Given the description of an element on the screen output the (x, y) to click on. 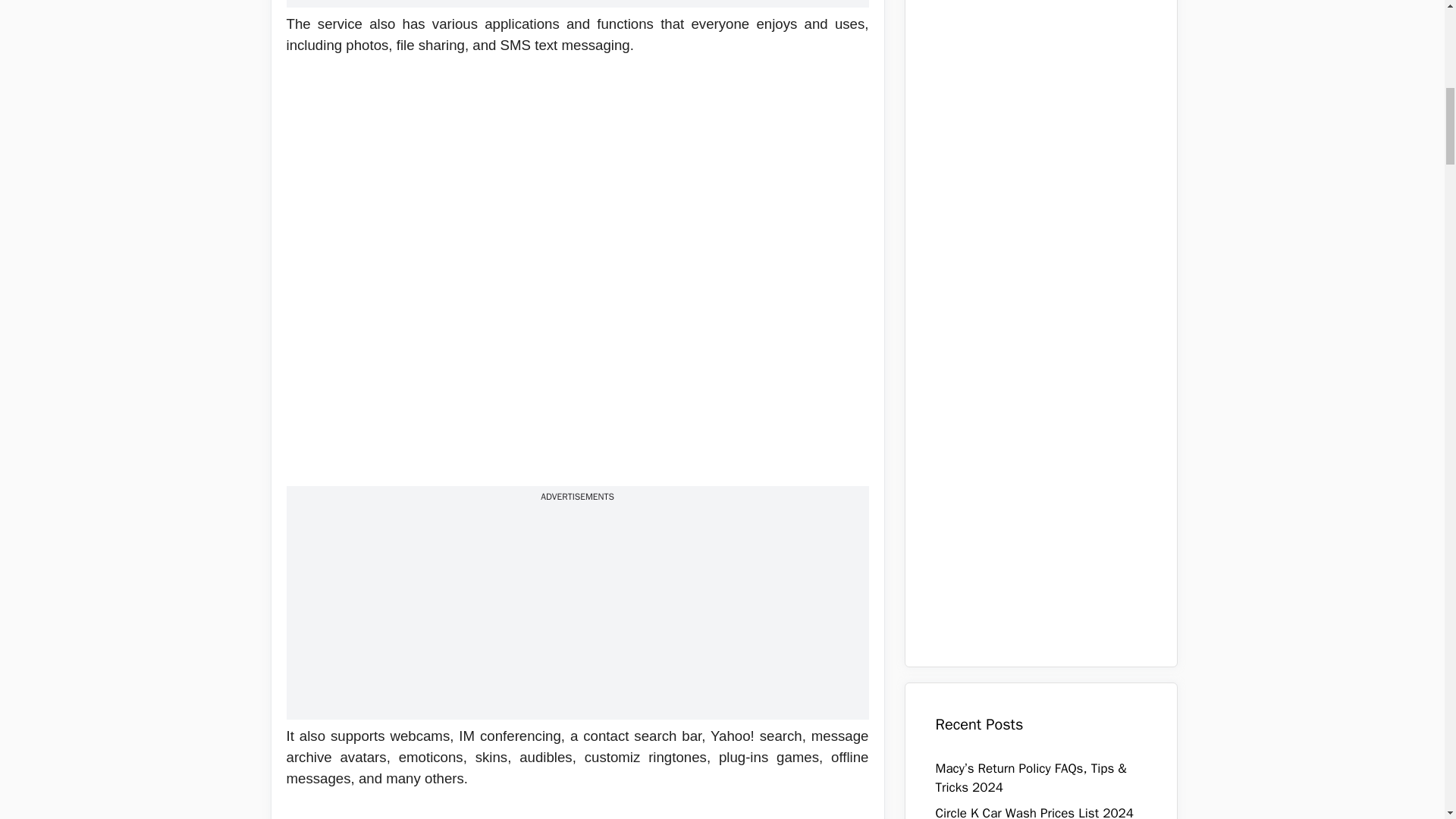
ADVERTISEMENTS (577, 496)
Circle K Car Wash Prices List 2024 (1035, 812)
